Given the description of an element on the screen output the (x, y) to click on. 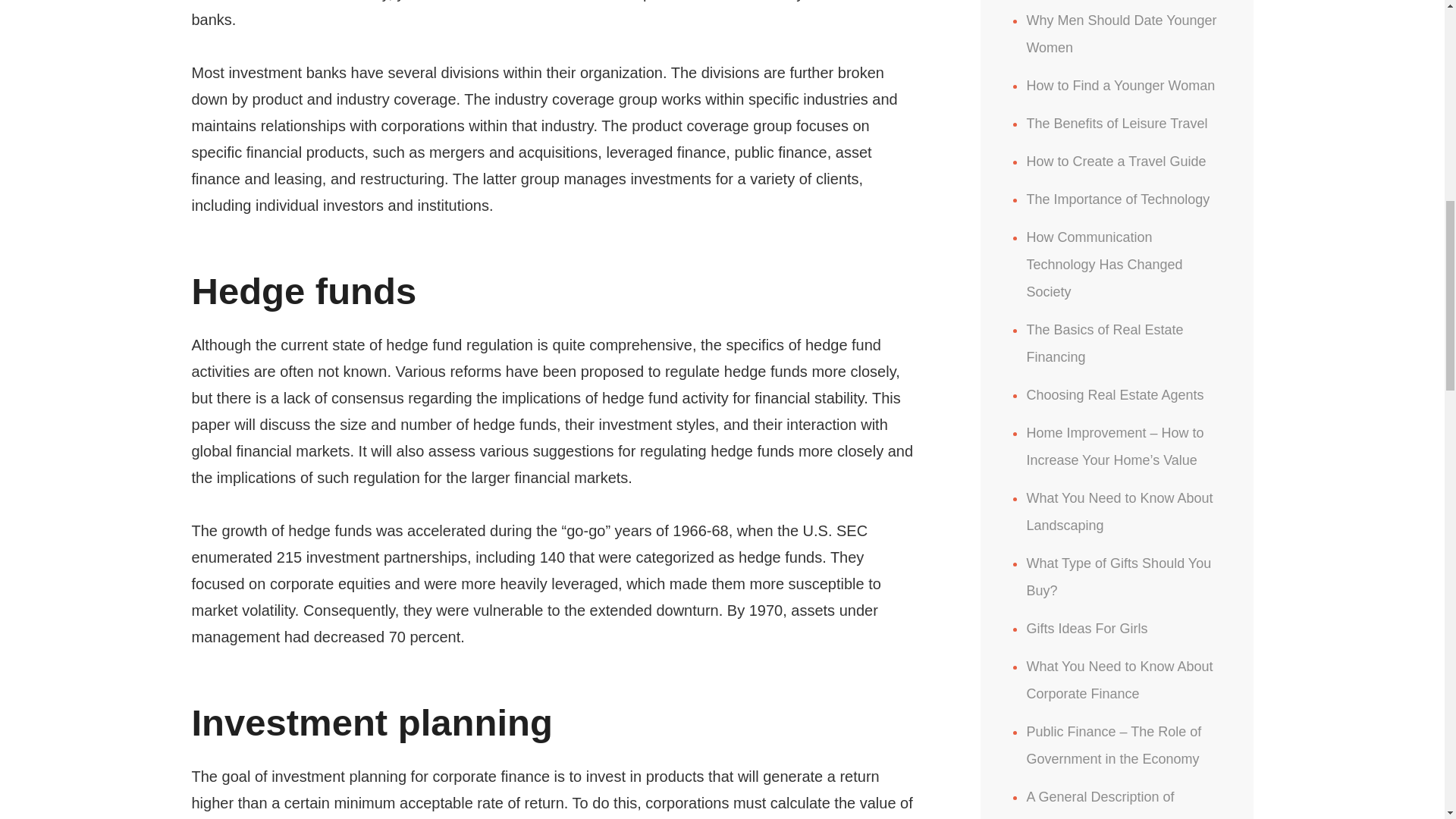
How Communication Technology Has Changed Society (1104, 264)
The Benefits of Leisure Travel (1116, 123)
The Importance of Technology (1117, 199)
Choosing Real Estate Agents (1115, 394)
How to Create a Travel Guide (1115, 160)
What Type of Gifts Should You Buy? (1118, 577)
How to Find a Younger Woman (1120, 85)
Why Men Should Date Younger Women (1120, 34)
What You Need to Know About Landscaping (1119, 511)
Gifts Ideas For Girls (1086, 628)
The Basics of Real Estate Financing (1104, 343)
